Given the description of an element on the screen output the (x, y) to click on. 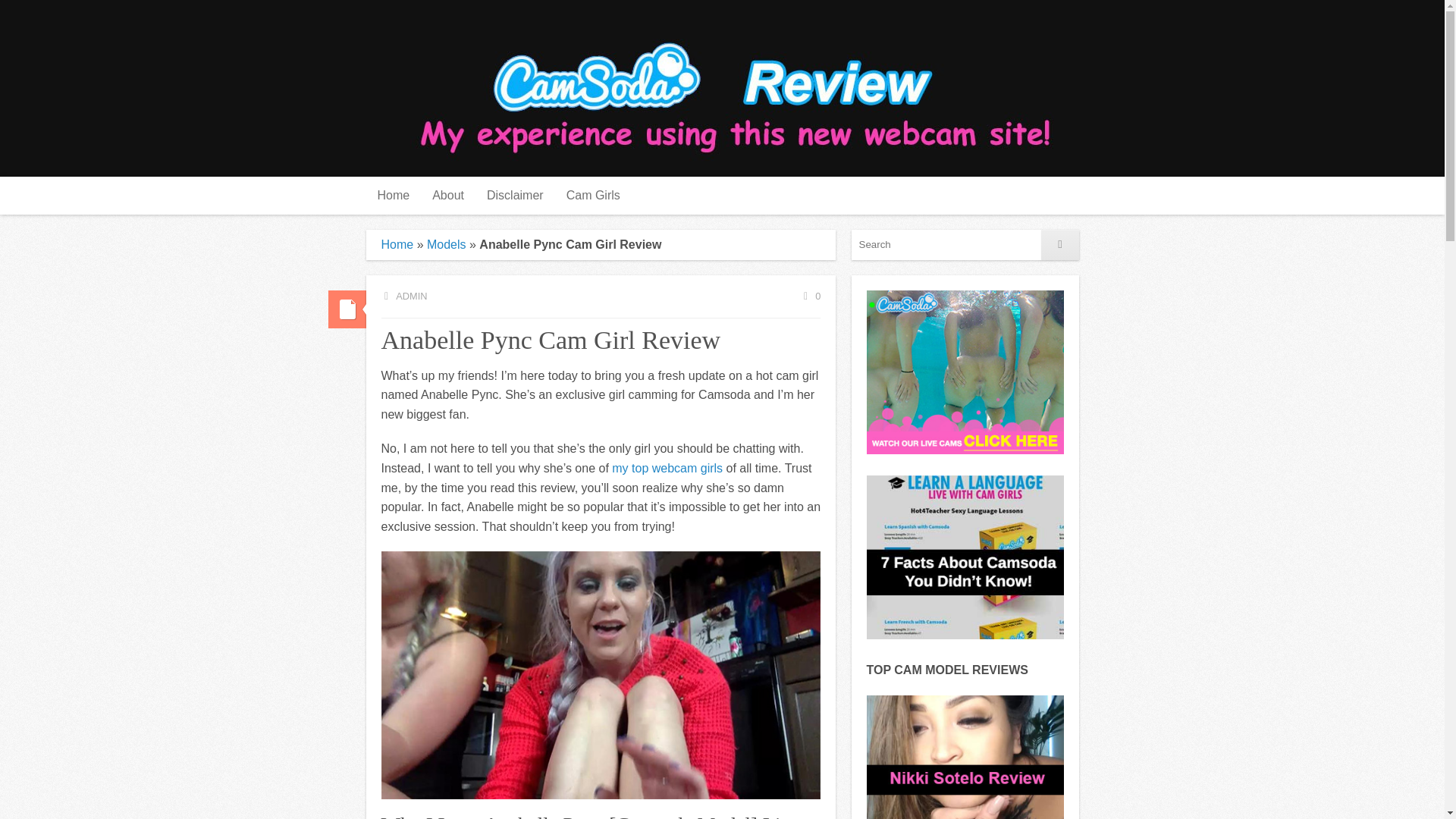
ADMIN (403, 296)
Standard (346, 309)
CamSodaReview.com (731, 88)
Cam Girls (592, 195)
Disclaimer (515, 195)
Home (392, 195)
CamSodaReview.com (731, 88)
0 (810, 296)
my top webcam girls (666, 468)
About (448, 195)
Models (445, 244)
Permalink to Anabelle Pync Cam Girl Review (346, 309)
Home (396, 244)
View all posts by admin (403, 296)
